Given the description of an element on the screen output the (x, y) to click on. 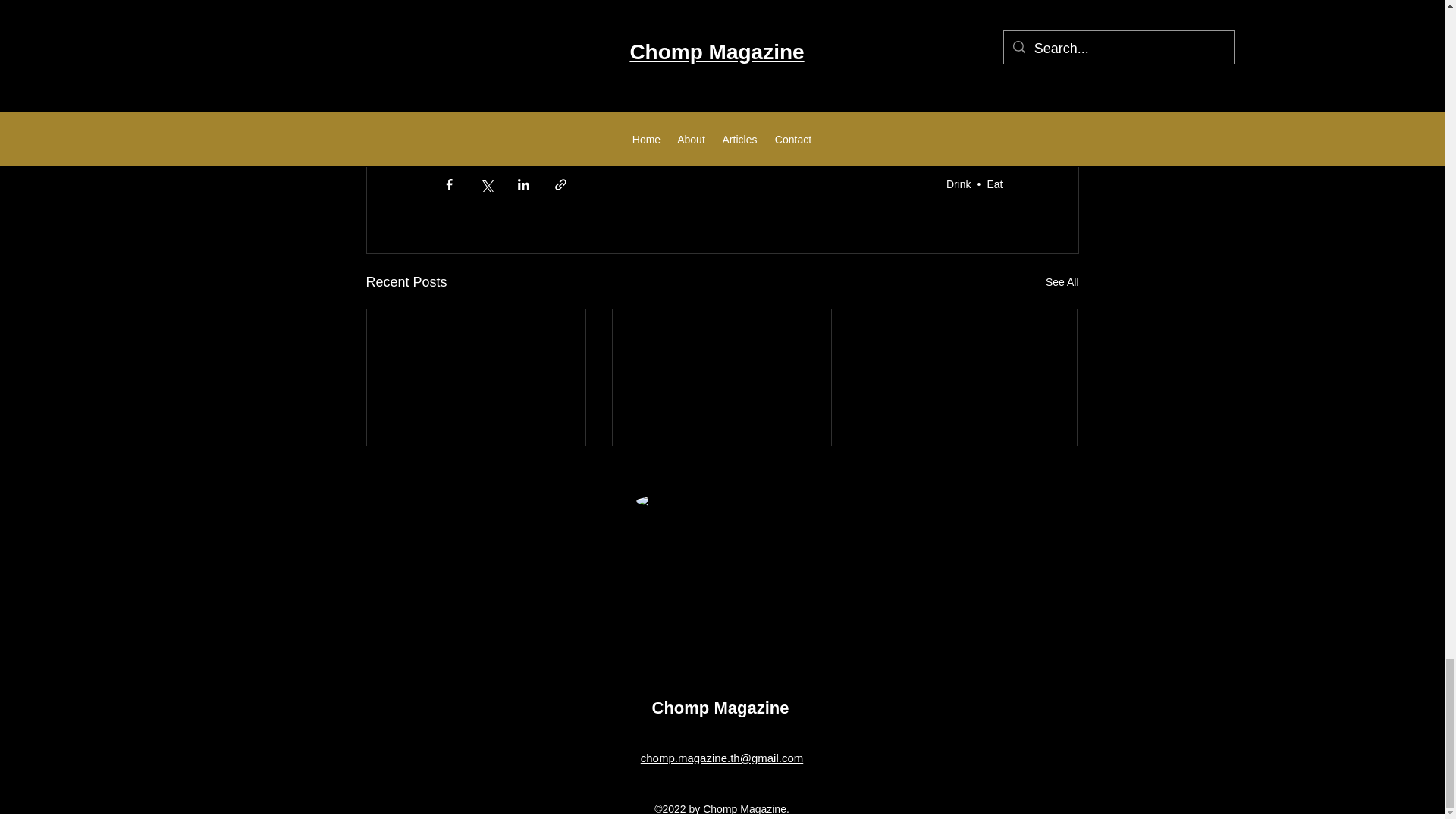
Eat (995, 184)
See All (1061, 282)
Drink (958, 184)
